Given the description of an element on the screen output the (x, y) to click on. 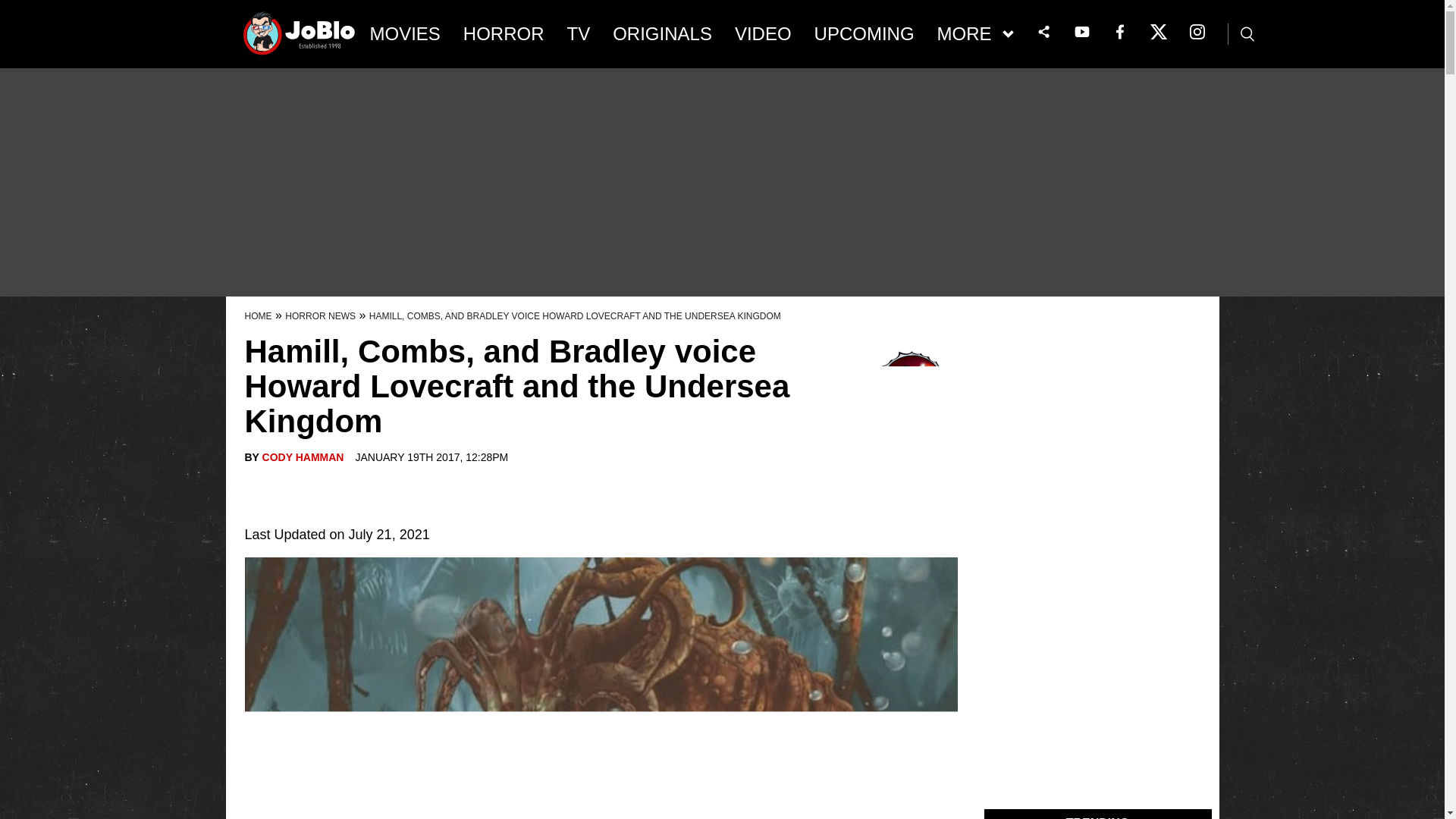
MOVIES (405, 34)
Go (13, 7)
VIDEO (762, 34)
ORIGINALS (662, 34)
JoBlo Logo (299, 38)
MORE (976, 34)
HORROR (503, 34)
TV (578, 34)
UPCOMING (863, 34)
